Given the description of an element on the screen output the (x, y) to click on. 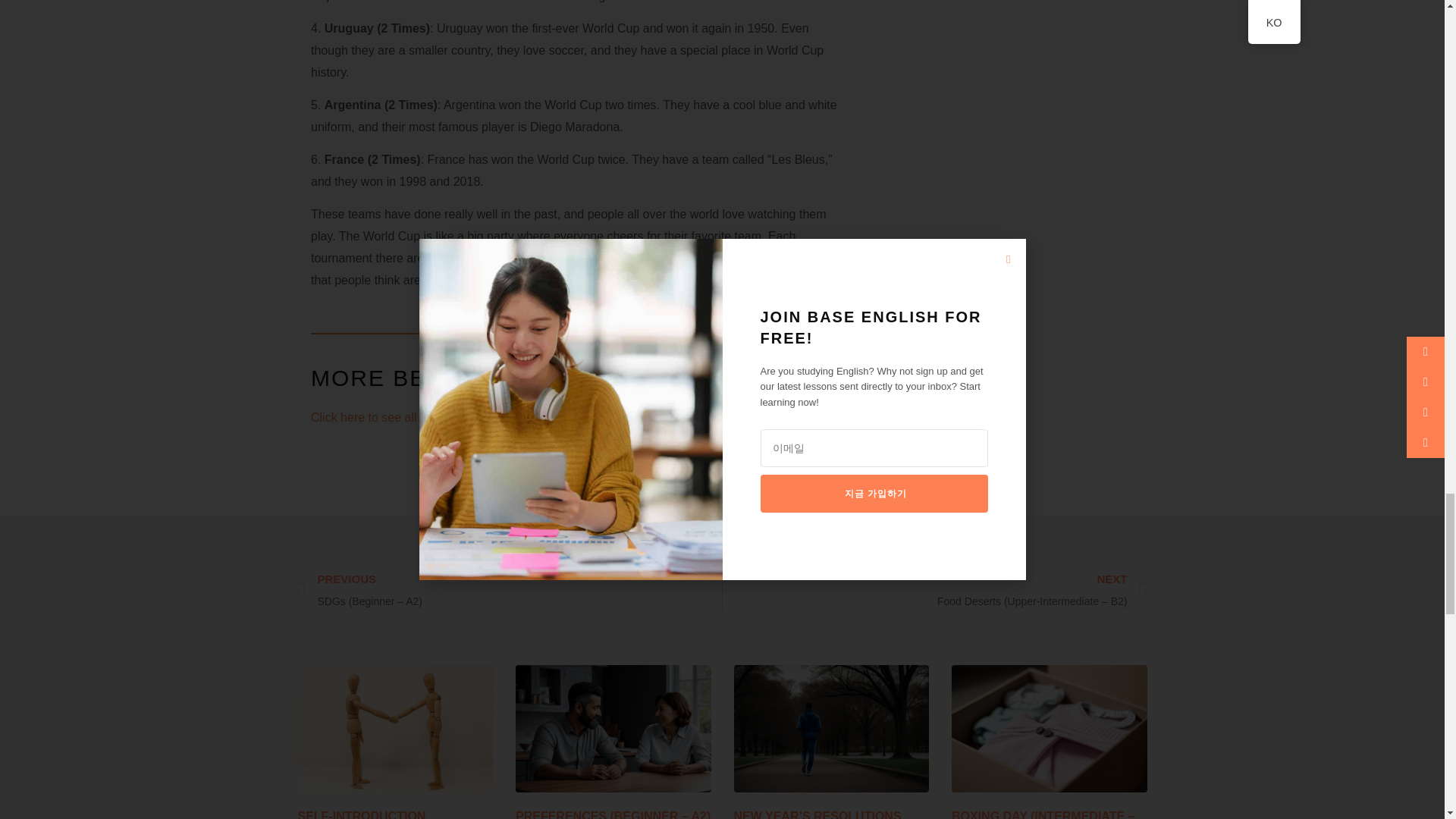
Click here to see all beginner-level lessons. (427, 417)
